Given the description of an element on the screen output the (x, y) to click on. 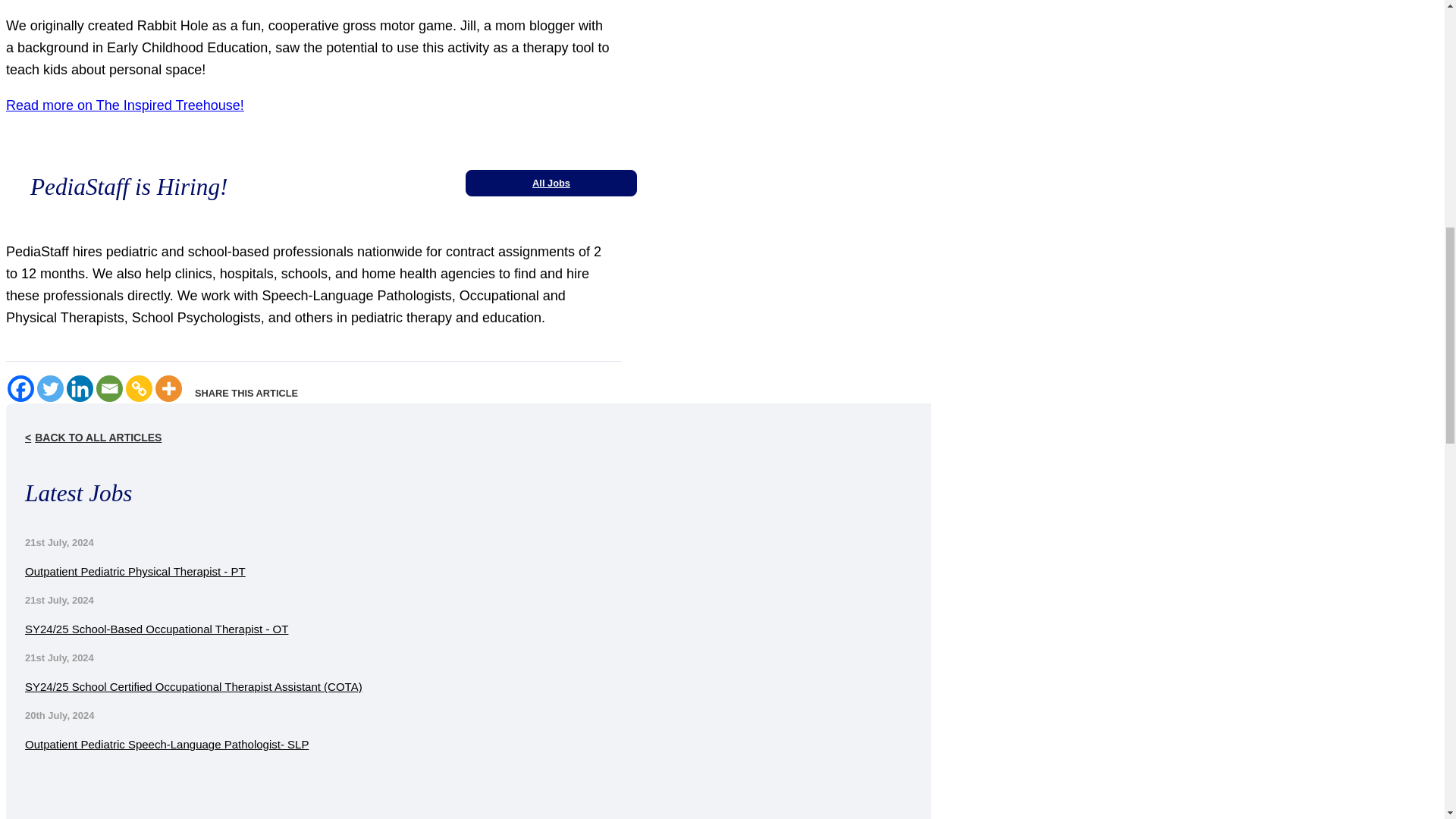
Twitter (50, 388)
Copy Link (138, 388)
More (168, 388)
Email (109, 388)
Facebook (20, 388)
Linkedin (79, 388)
